Given the description of an element on the screen output the (x, y) to click on. 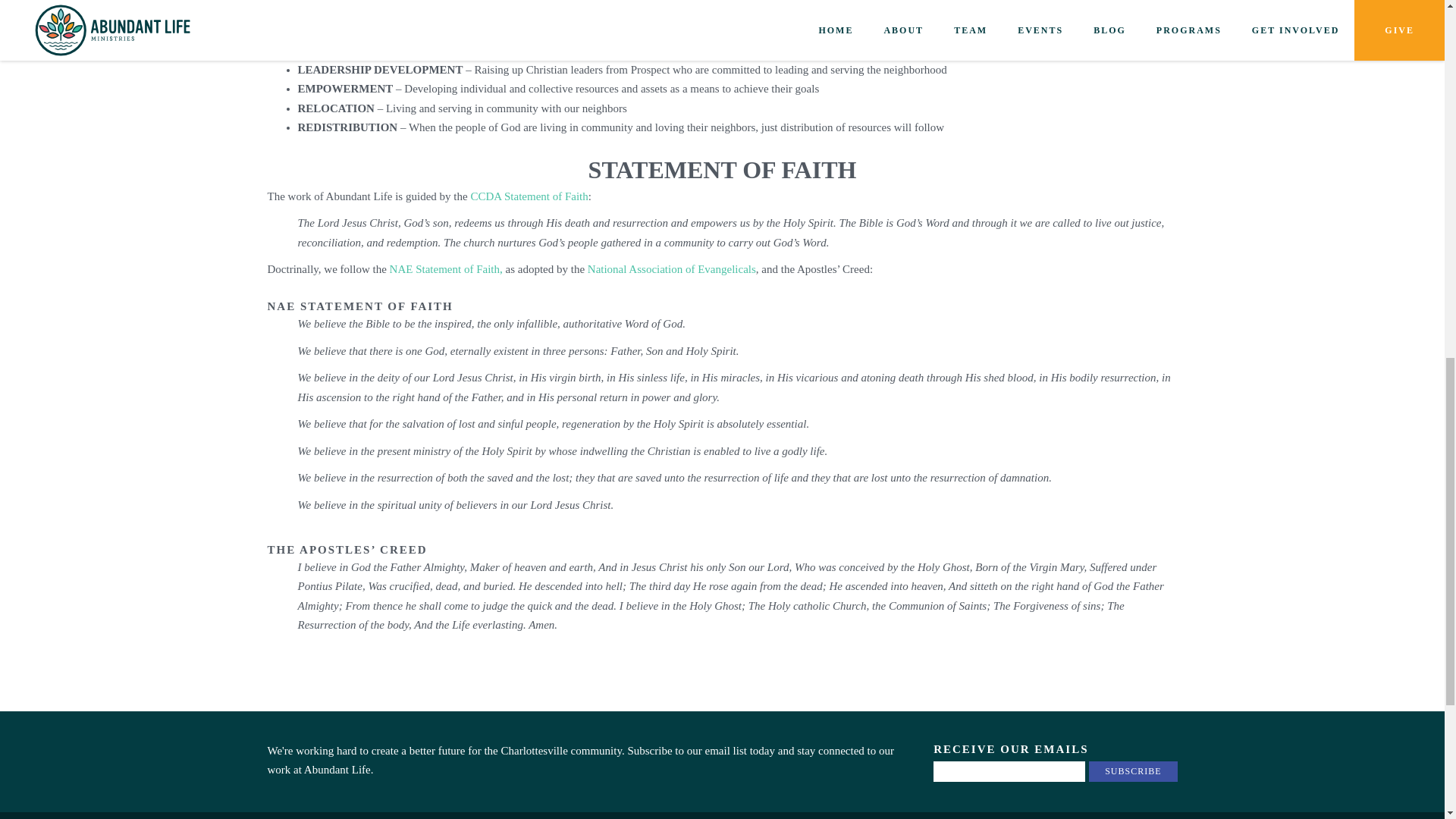
CCDA Statement of Faith (529, 196)
NAE Statement of Faith (444, 268)
National Association of Evangelicals (671, 268)
Subscribe (1132, 771)
Subscribe (1132, 771)
